Given the description of an element on the screen output the (x, y) to click on. 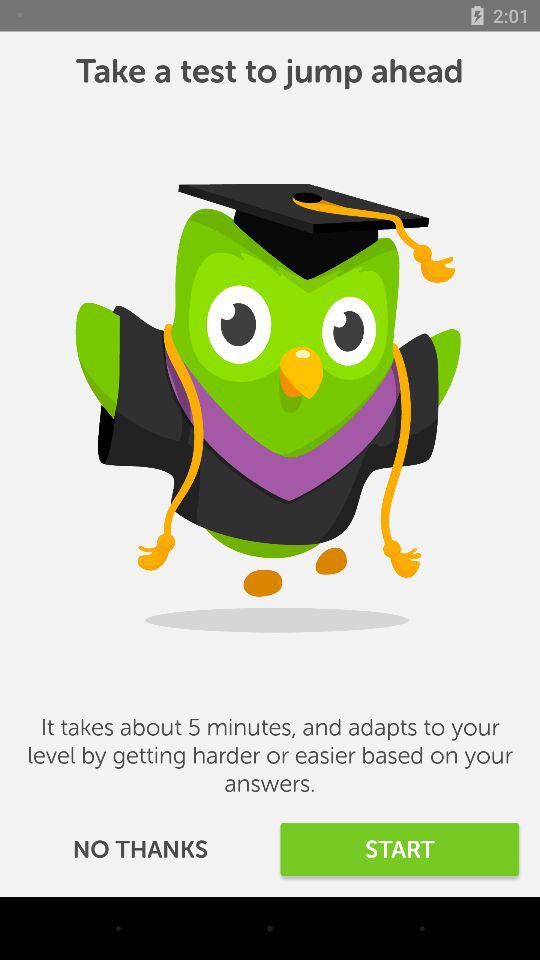
choose icon at the bottom left corner (140, 849)
